Given the description of an element on the screen output the (x, y) to click on. 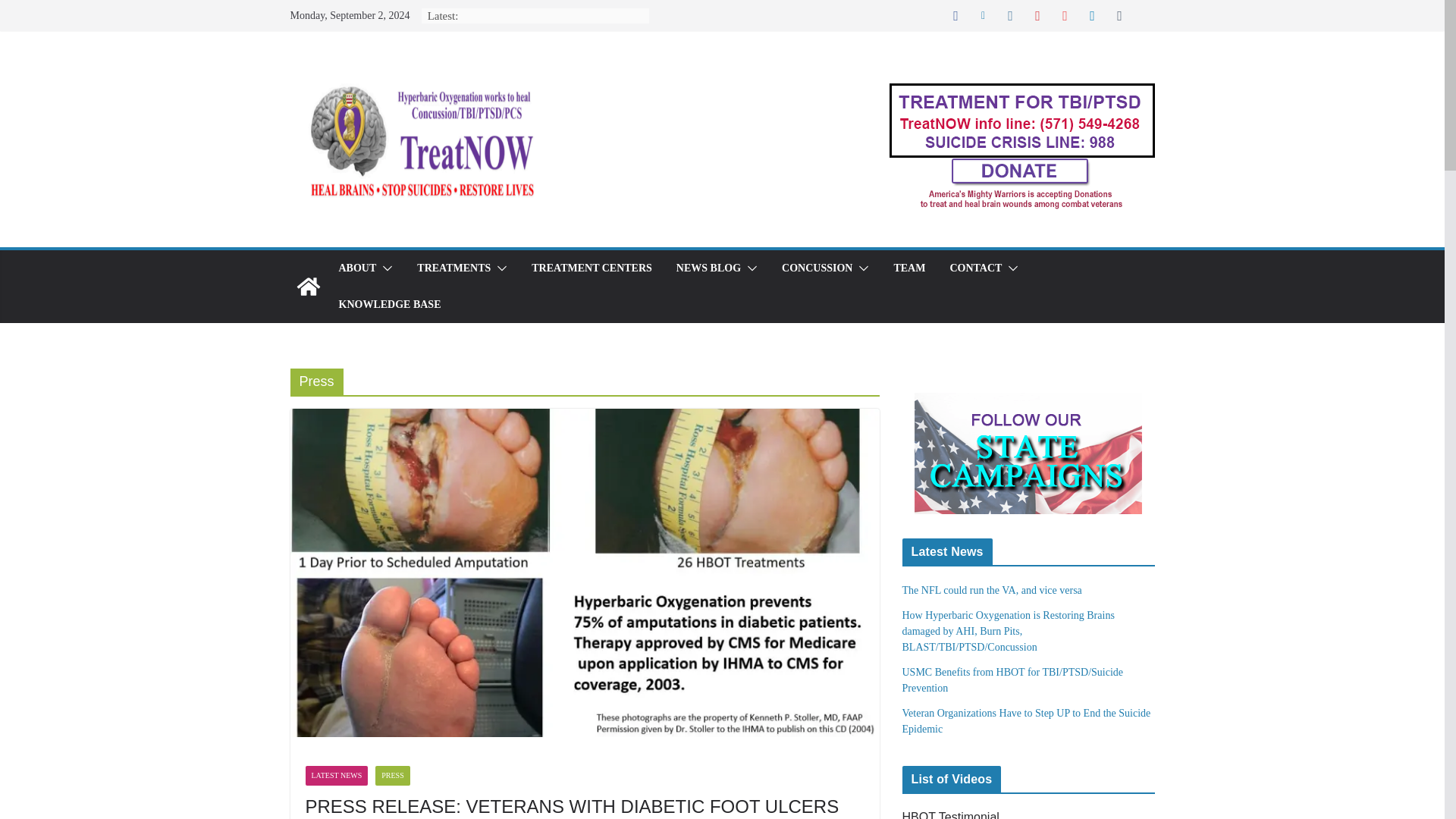
TREATMENT CENTERS (591, 268)
CONCUSSION (816, 268)
TREATMENTS (453, 268)
TreatNOW (307, 286)
ABOUT (356, 268)
NEWS BLOG (709, 268)
